Given the description of an element on the screen output the (x, y) to click on. 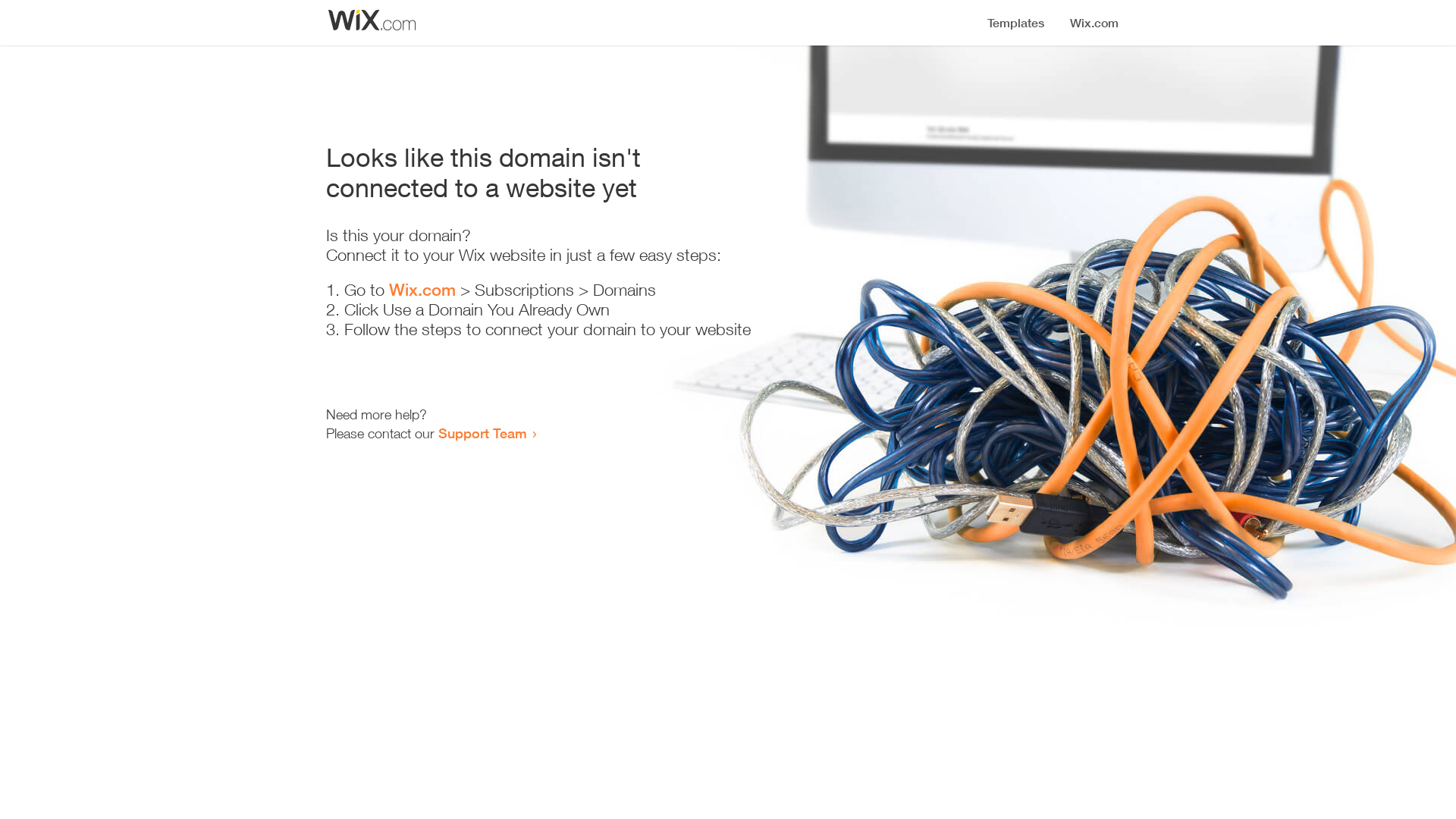
Support Team Element type: text (482, 432)
Wix.com Element type: text (422, 289)
